Given the description of an element on the screen output the (x, y) to click on. 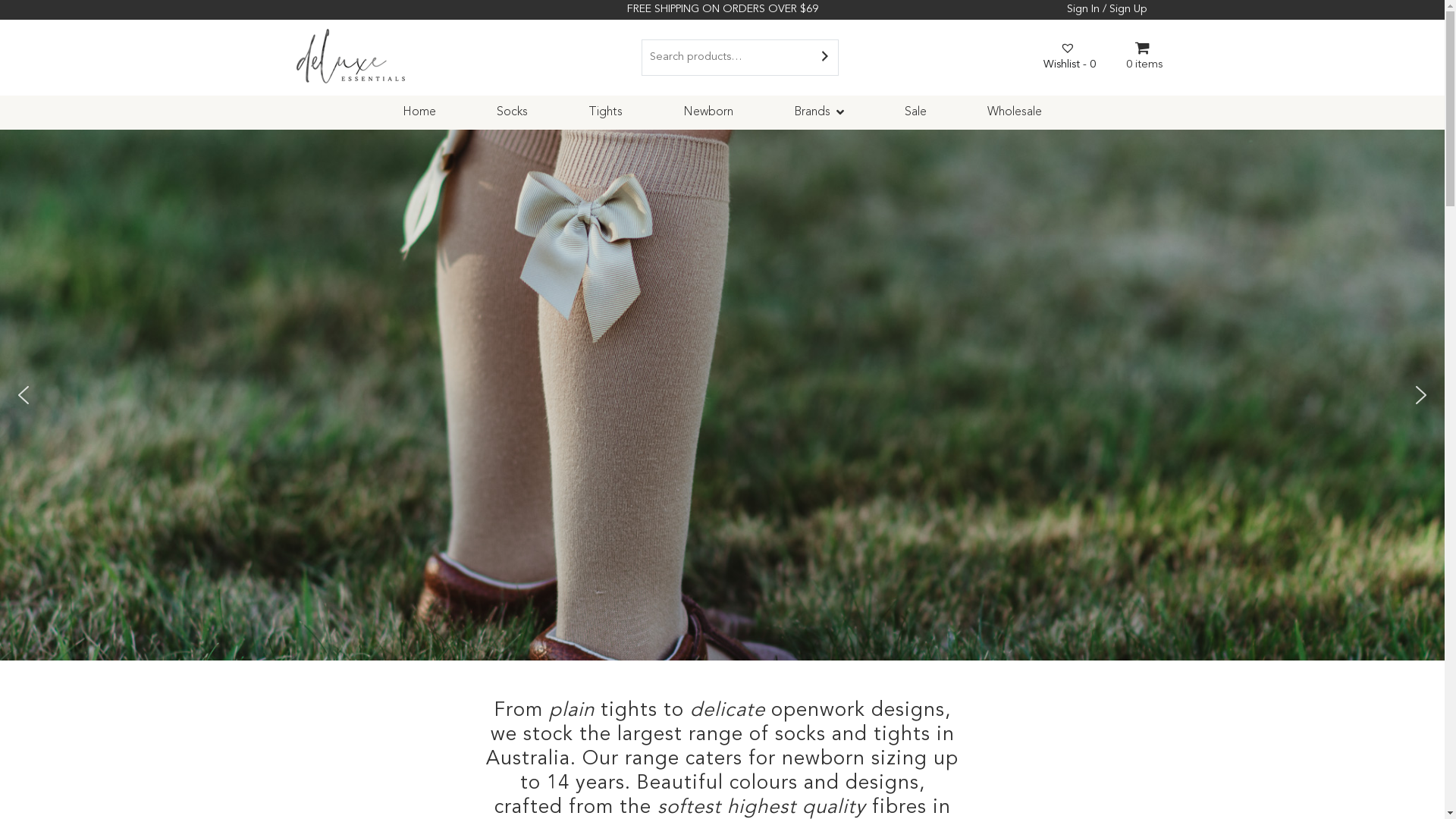
0 items Element type: text (1143, 55)
FREE SHIPPING ON ORDERS OVER $69 Element type: text (721, 9)
Sale Element type: text (915, 112)
Sign In / Sign Up Element type: text (1106, 9)
Deluxe Essentials Element type: text (492, 67)
Wholesale Element type: text (1014, 112)
Socks Element type: text (511, 112)
Wishlist - 0 Element type: text (1069, 55)
Brands Element type: text (818, 112)
Newborn Element type: text (708, 112)
Tights Element type: text (605, 112)
Home Element type: text (419, 112)
